Given the description of an element on the screen output the (x, y) to click on. 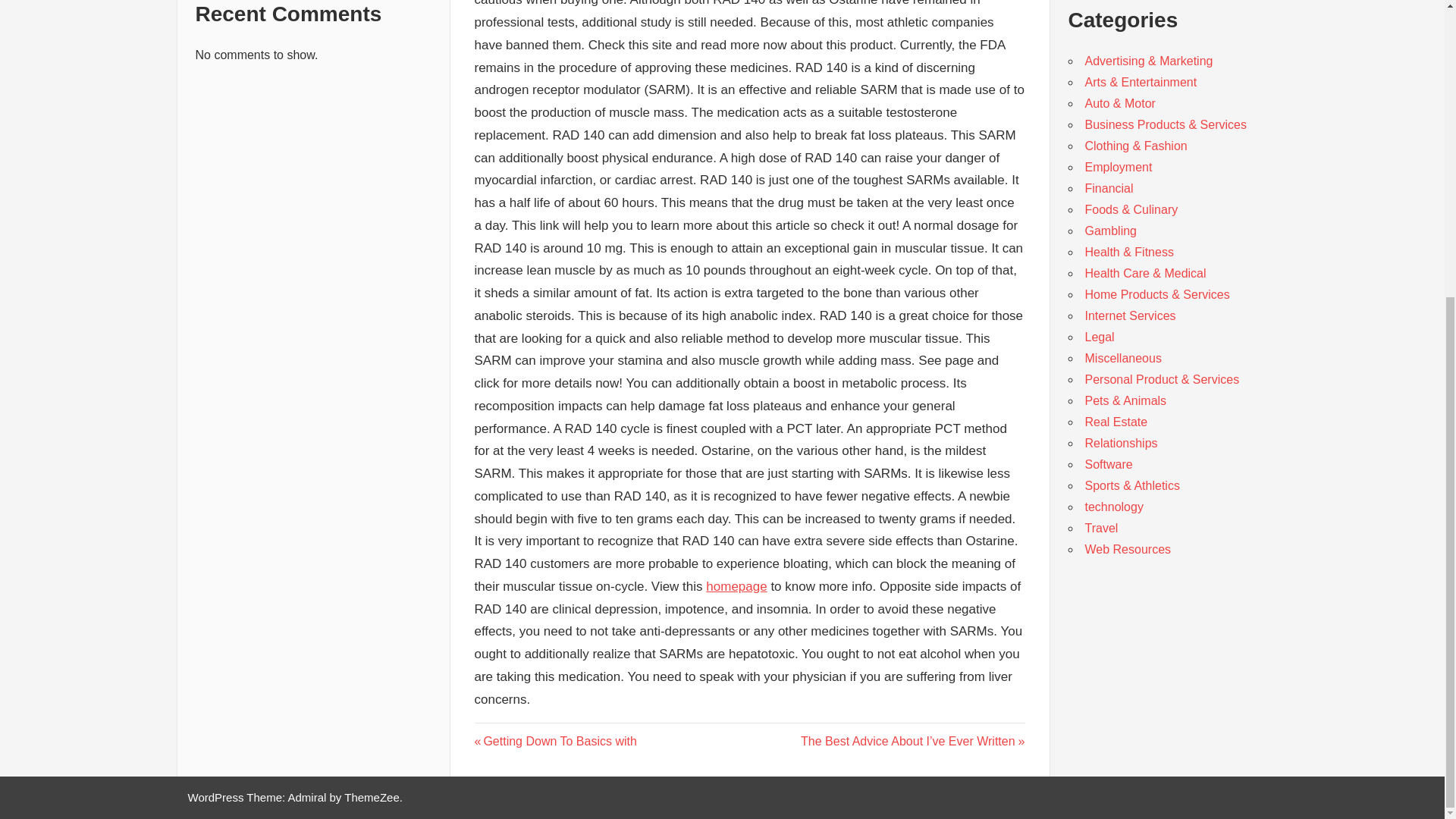
Internet Services (1129, 315)
Miscellaneous (1122, 358)
homepage (736, 586)
Legal (1098, 336)
Gambling (1109, 230)
Employment (555, 740)
Financial (1117, 166)
